Given the description of an element on the screen output the (x, y) to click on. 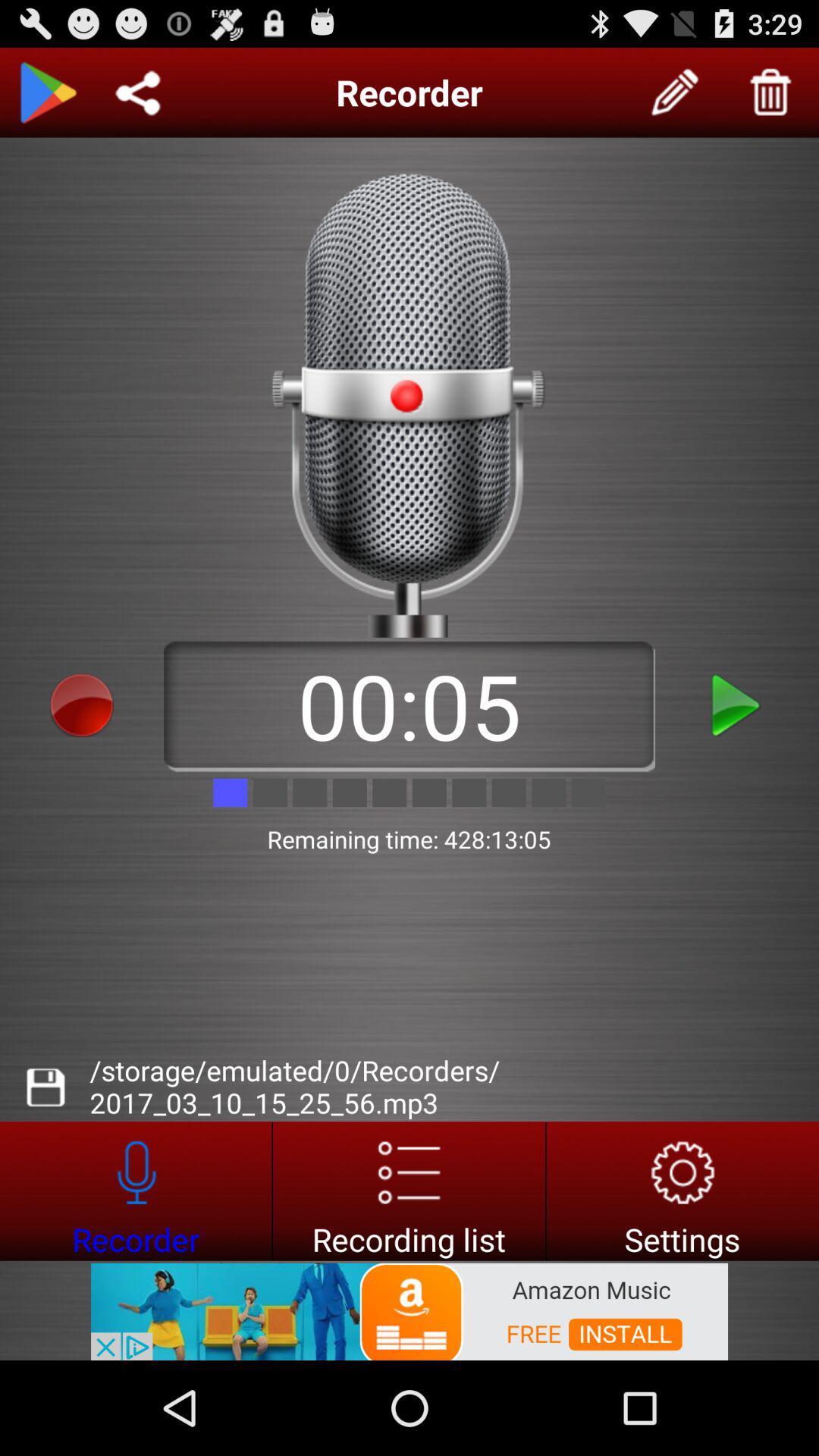
setting option (682, 1190)
